Given the description of an element on the screen output the (x, y) to click on. 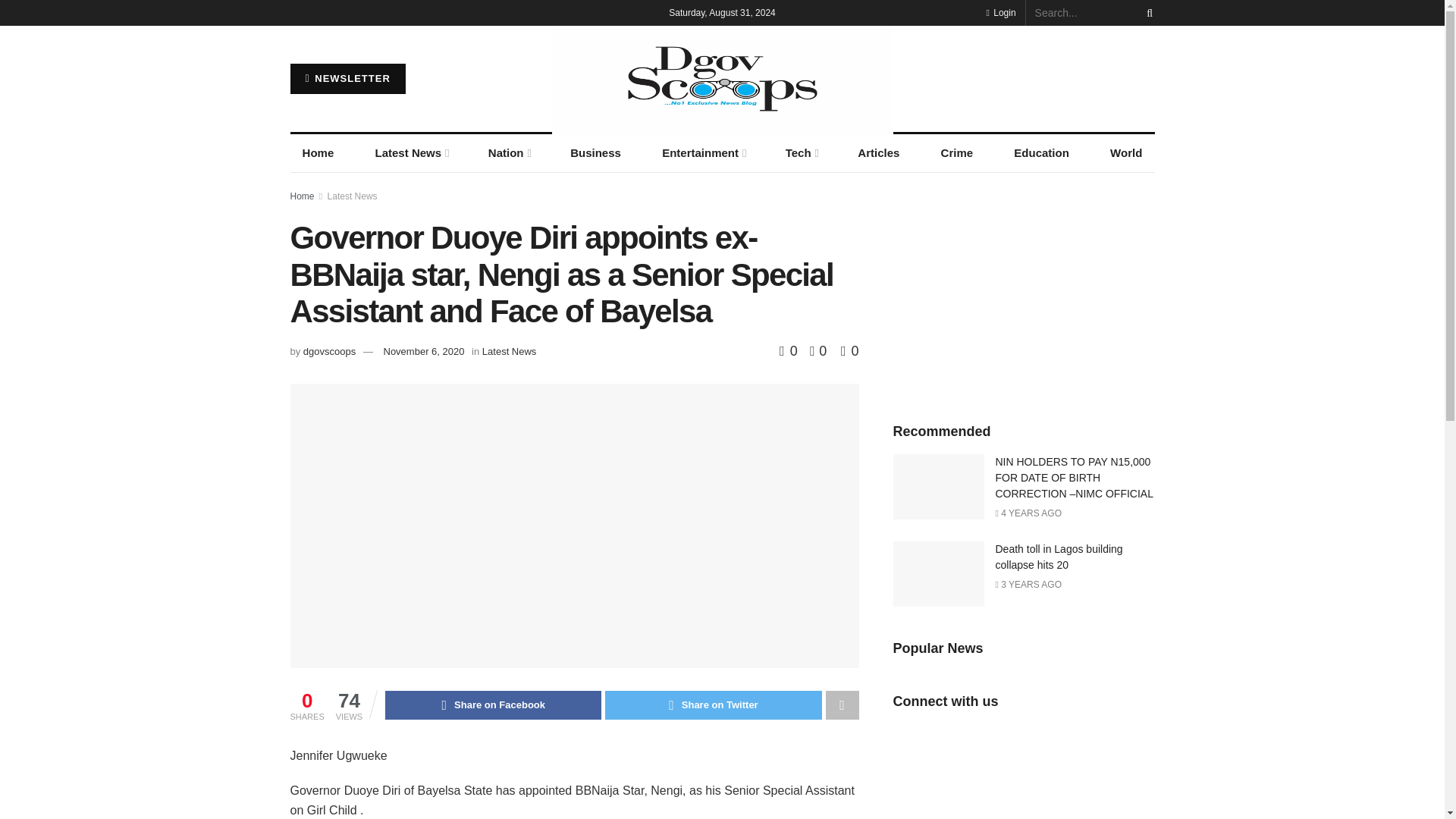
Login (1001, 12)
Entertainment (703, 152)
Business (595, 152)
World (1125, 152)
Latest News (410, 152)
NEWSLETTER (346, 78)
Articles (878, 152)
Education (1041, 152)
Nation (508, 152)
Crime (956, 152)
